Given the description of an element on the screen output the (x, y) to click on. 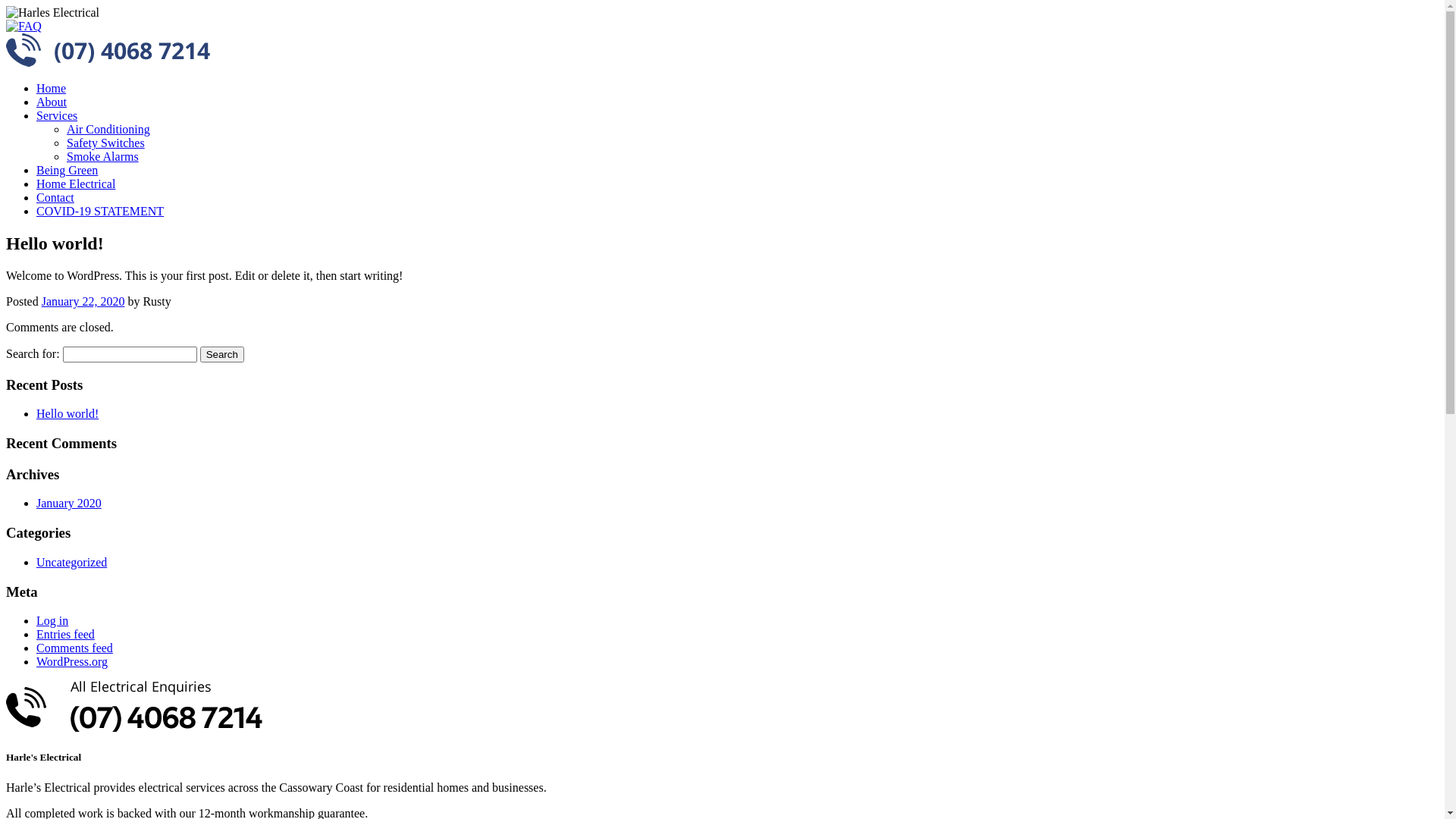
January 2020 Element type: text (68, 502)
Services Element type: text (56, 115)
Uncategorized Element type: text (71, 561)
Entries feed Element type: text (65, 633)
January 22, 2020 Element type: text (83, 300)
About Element type: text (51, 101)
Air Conditioning Element type: text (108, 128)
Home Electrical Element type: text (75, 183)
Safety Switches Element type: text (105, 142)
WordPress.org Element type: text (71, 661)
Search Element type: text (222, 354)
Log in Element type: text (52, 620)
Comments feed Element type: text (74, 647)
Smoke Alarms Element type: text (102, 156)
Contact Element type: text (55, 197)
Hello world! Element type: text (67, 413)
COVID-19 STATEMENT Element type: text (99, 210)
Being Green Element type: text (66, 169)
Home Element type: text (50, 87)
